Given the description of an element on the screen output the (x, y) to click on. 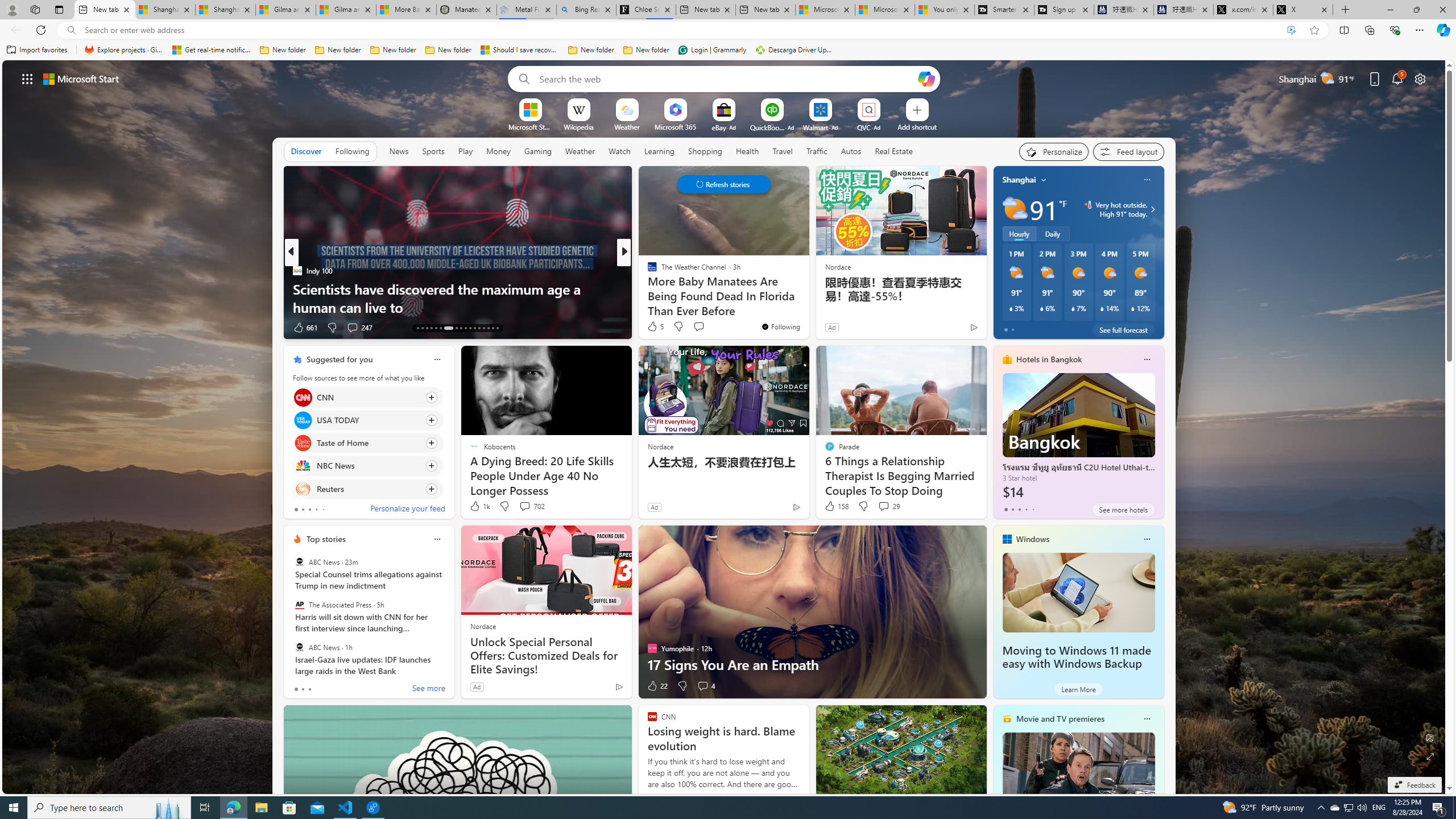
USA TODAY (302, 419)
View comments 4 Comment (703, 685)
tab-4 (1032, 509)
AutomationID: tab-13 (417, 328)
16 Like (652, 327)
Yumophile (647, 288)
Expand background (1430, 756)
